Given the description of an element on the screen output the (x, y) to click on. 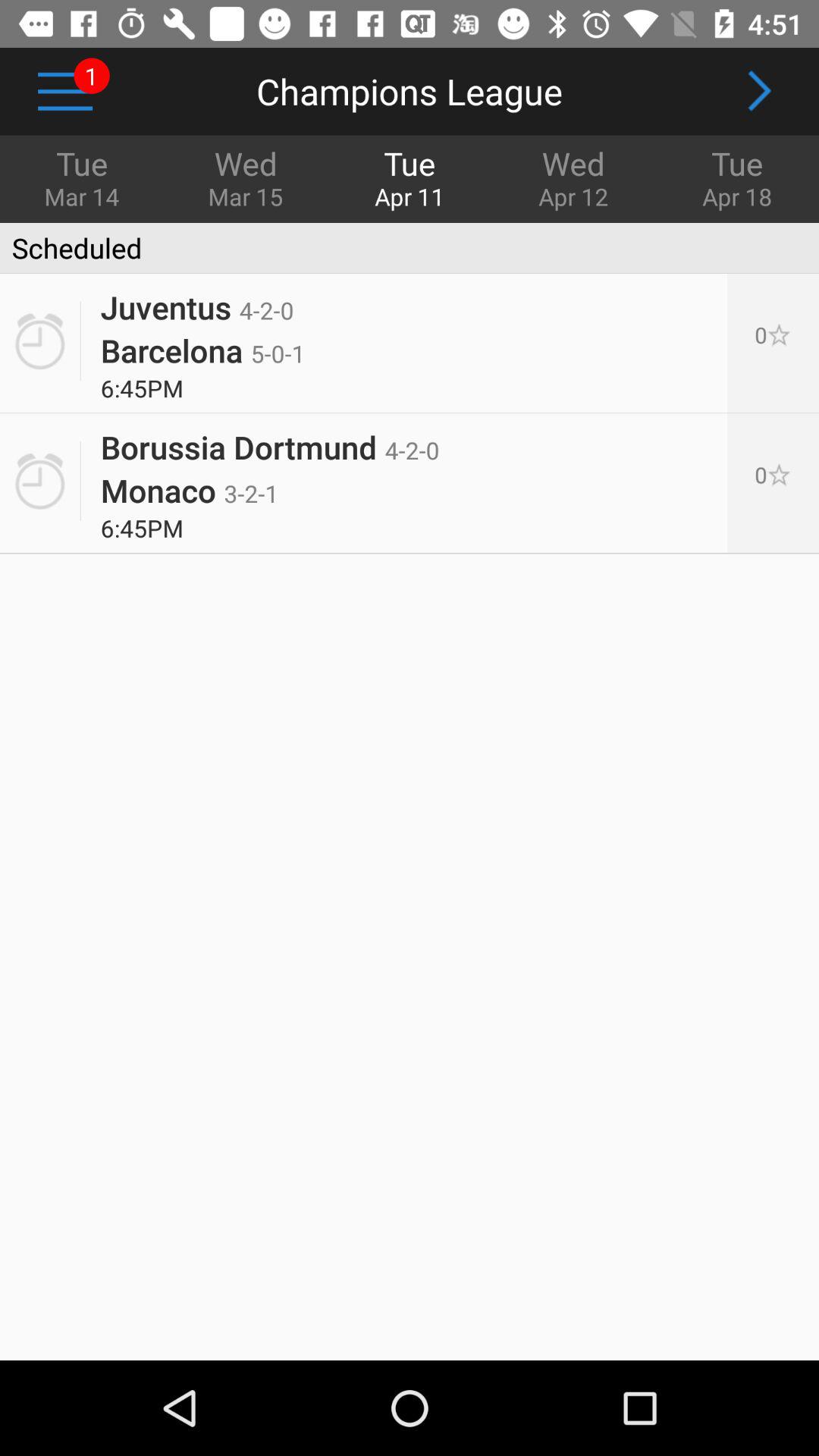
press item above juventus 4 2 icon (71, 247)
